Given the description of an element on the screen output the (x, y) to click on. 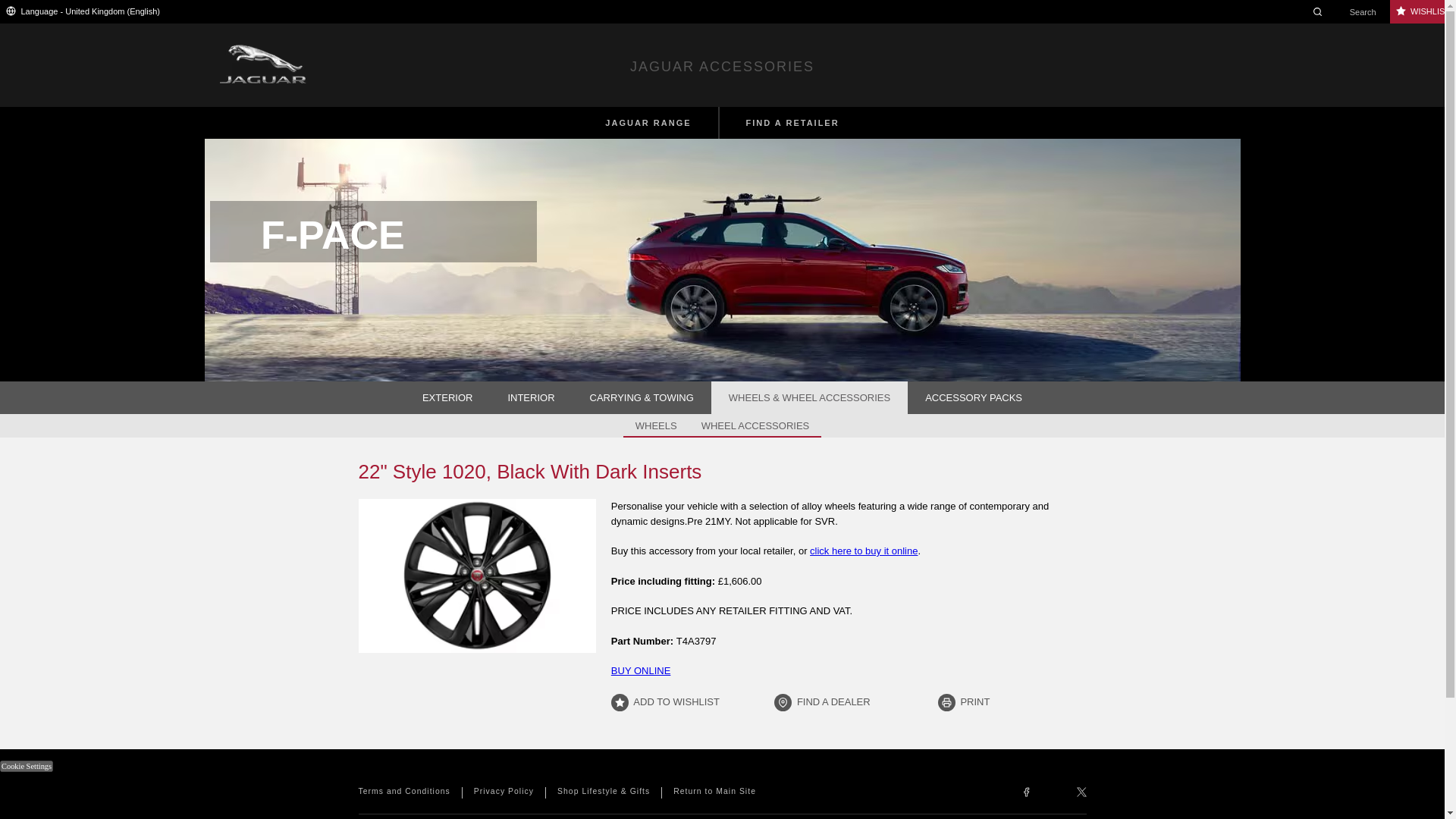
FIND A RETAILER (792, 122)
JAGUAR RANGE (647, 122)
